Given the description of an element on the screen output the (x, y) to click on. 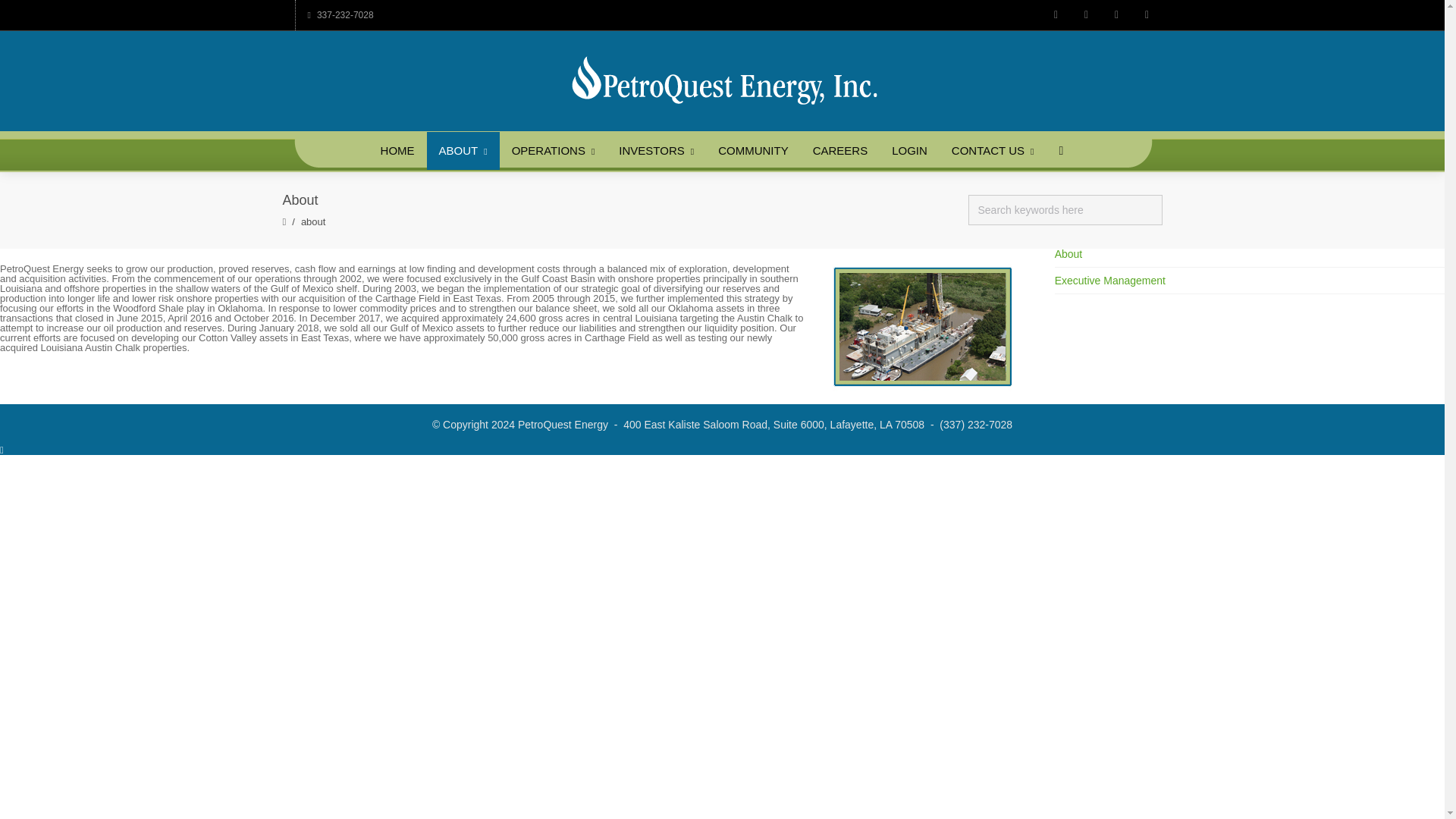
HOME (397, 150)
PetroQuest Energy (722, 78)
ABOUT (462, 150)
 Follow on Twitter (1055, 15)
 Follow on Facebook (1085, 15)
LOGIN (909, 150)
Search keywords here (1064, 210)
OPERATIONS (553, 150)
CONTACT US (992, 150)
COMMUNITY (753, 150)
INVESTORS (656, 150)
CAREERS (840, 150)
 RSS (1146, 15)
